Given the description of an element on the screen output the (x, y) to click on. 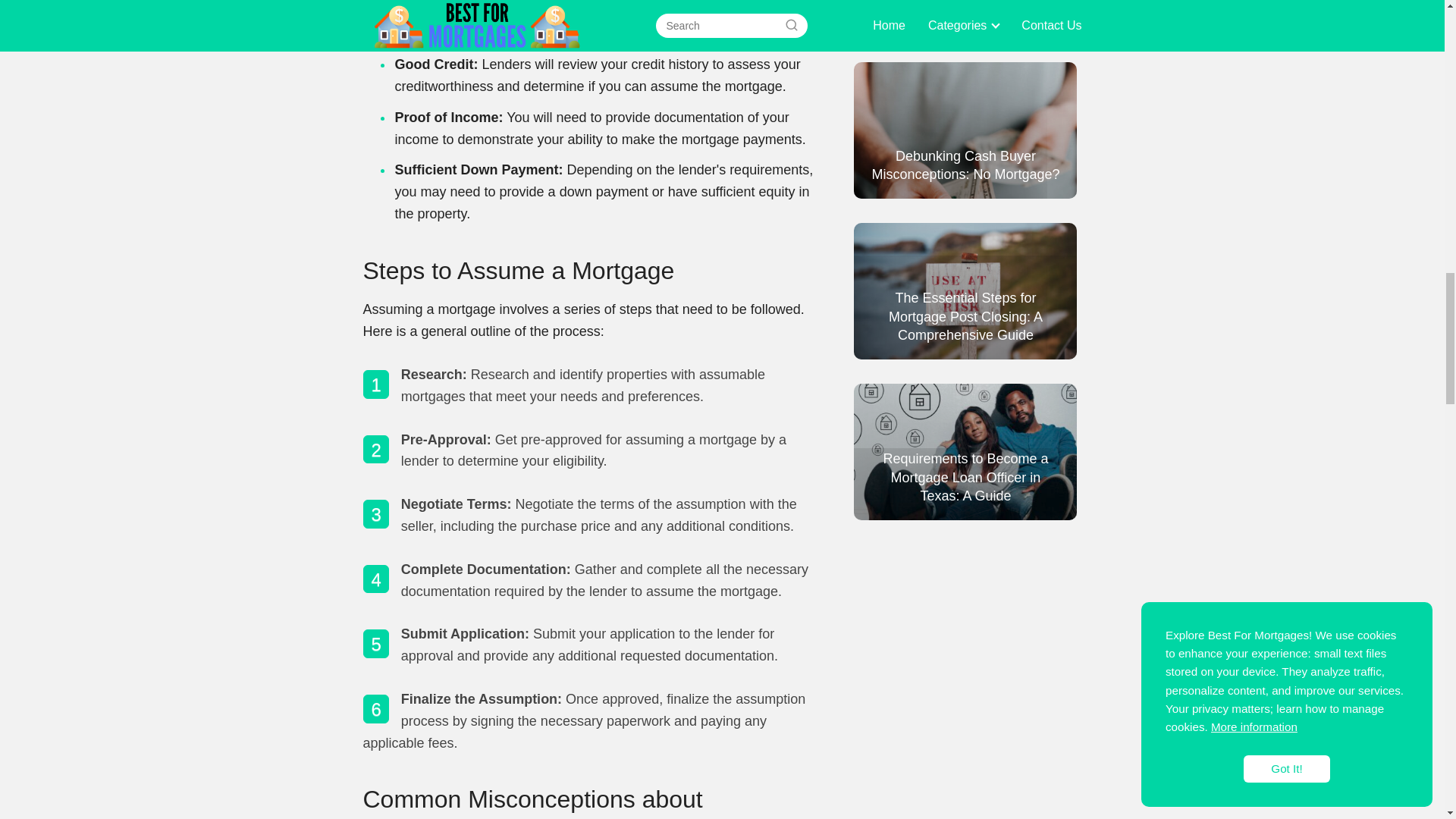
The Importance of Post-Closing in Mortgages: Explained (590, 18)
